Given the description of an element on the screen output the (x, y) to click on. 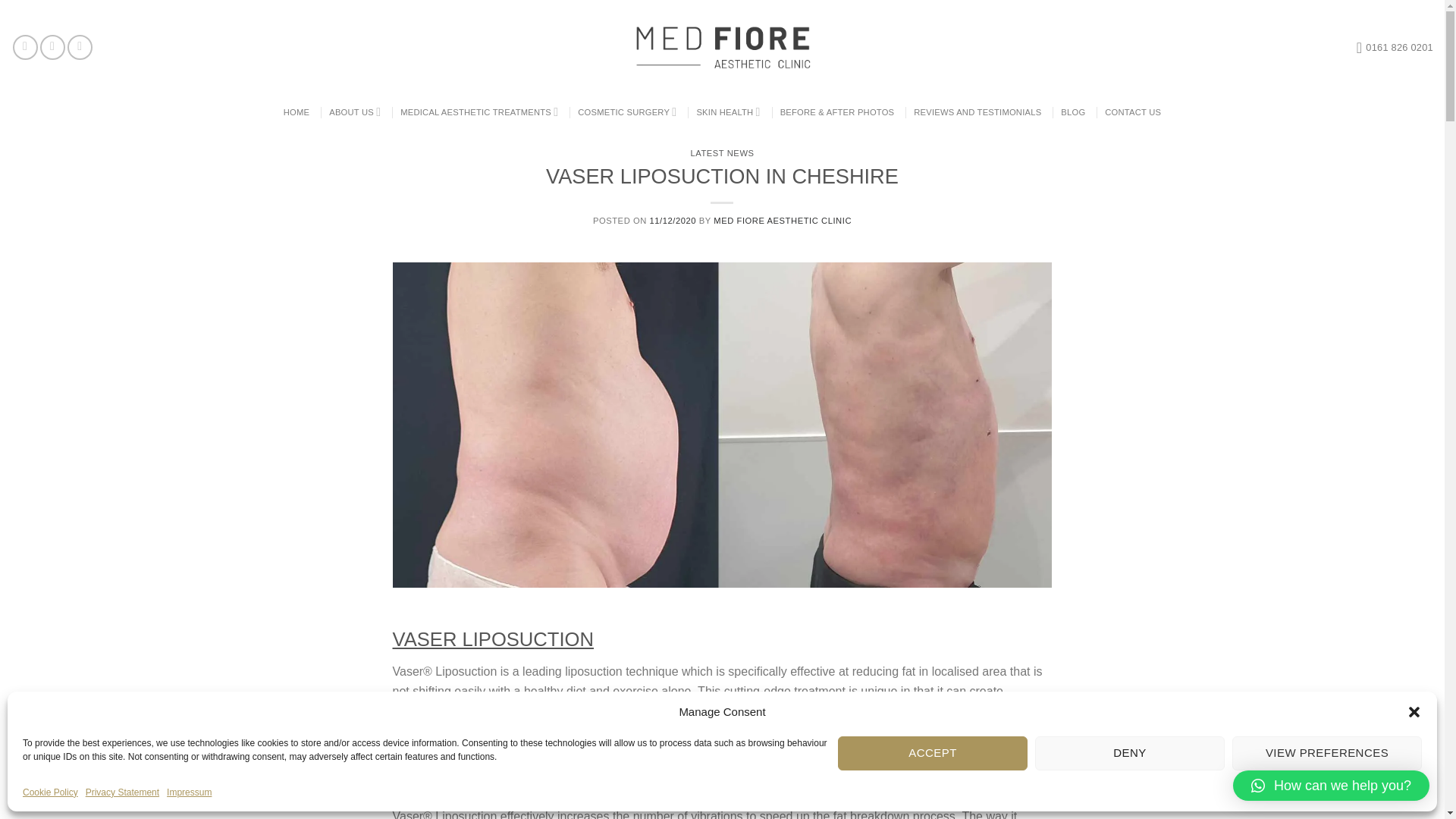
Follow on YouTube (79, 47)
0161 826 0201 (1394, 46)
Cookie Policy (50, 792)
ABOUT US (354, 111)
Follow on Instagram (52, 47)
ACCEPT (932, 753)
MEDICAL AESTHETIC TREATMENTS (478, 111)
0161 826 0201 (1394, 46)
HOME (295, 111)
Impressum (189, 792)
DENY (1129, 753)
Follow on Facebook (25, 47)
Privacy Statement (121, 792)
VIEW PREFERENCES (1326, 753)
